Given the description of an element on the screen output the (x, y) to click on. 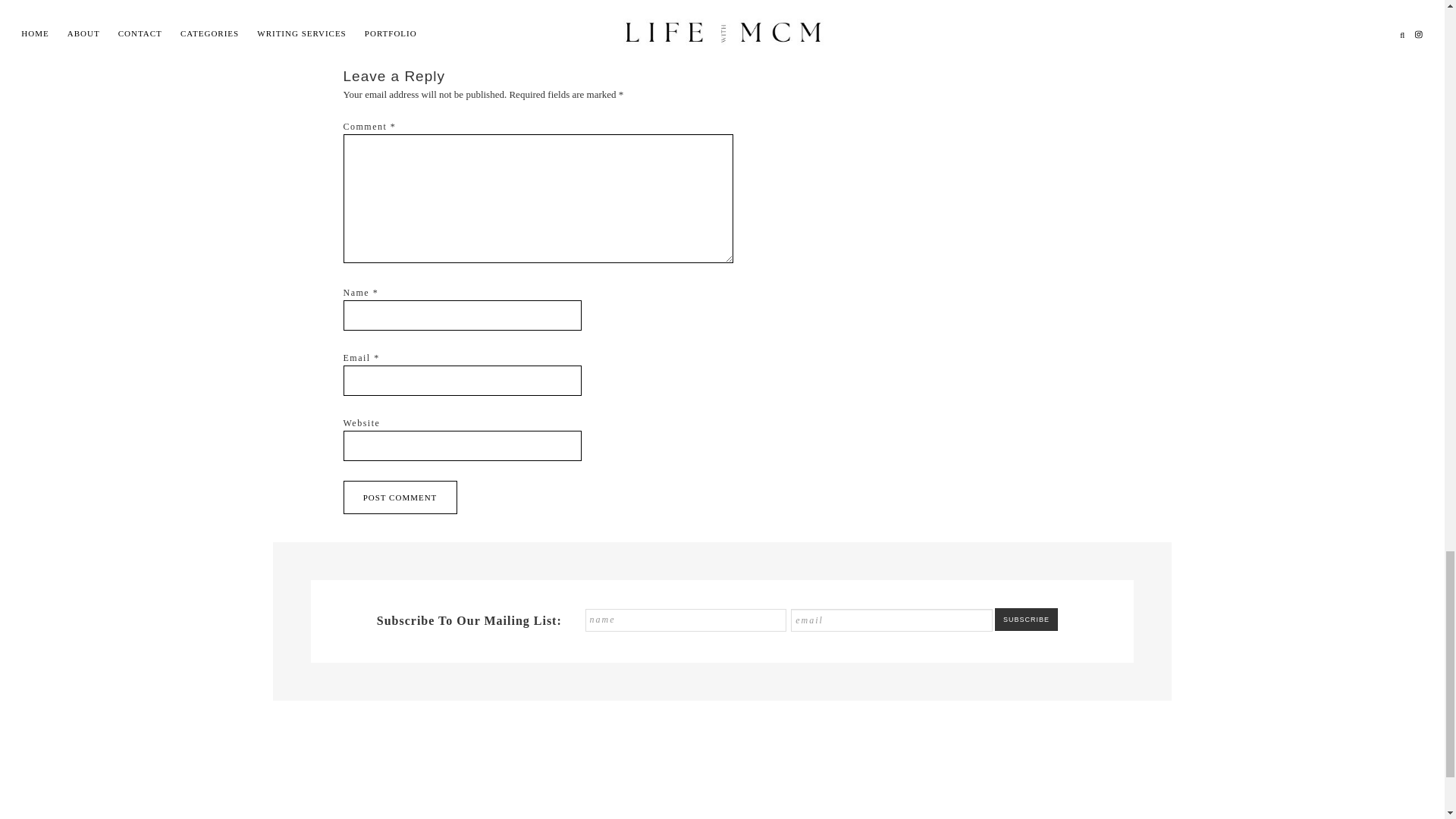
Subscribe (1026, 619)
Post Comment (399, 497)
Subscribe (1026, 619)
Post Comment (399, 497)
